Given the description of an element on the screen output the (x, y) to click on. 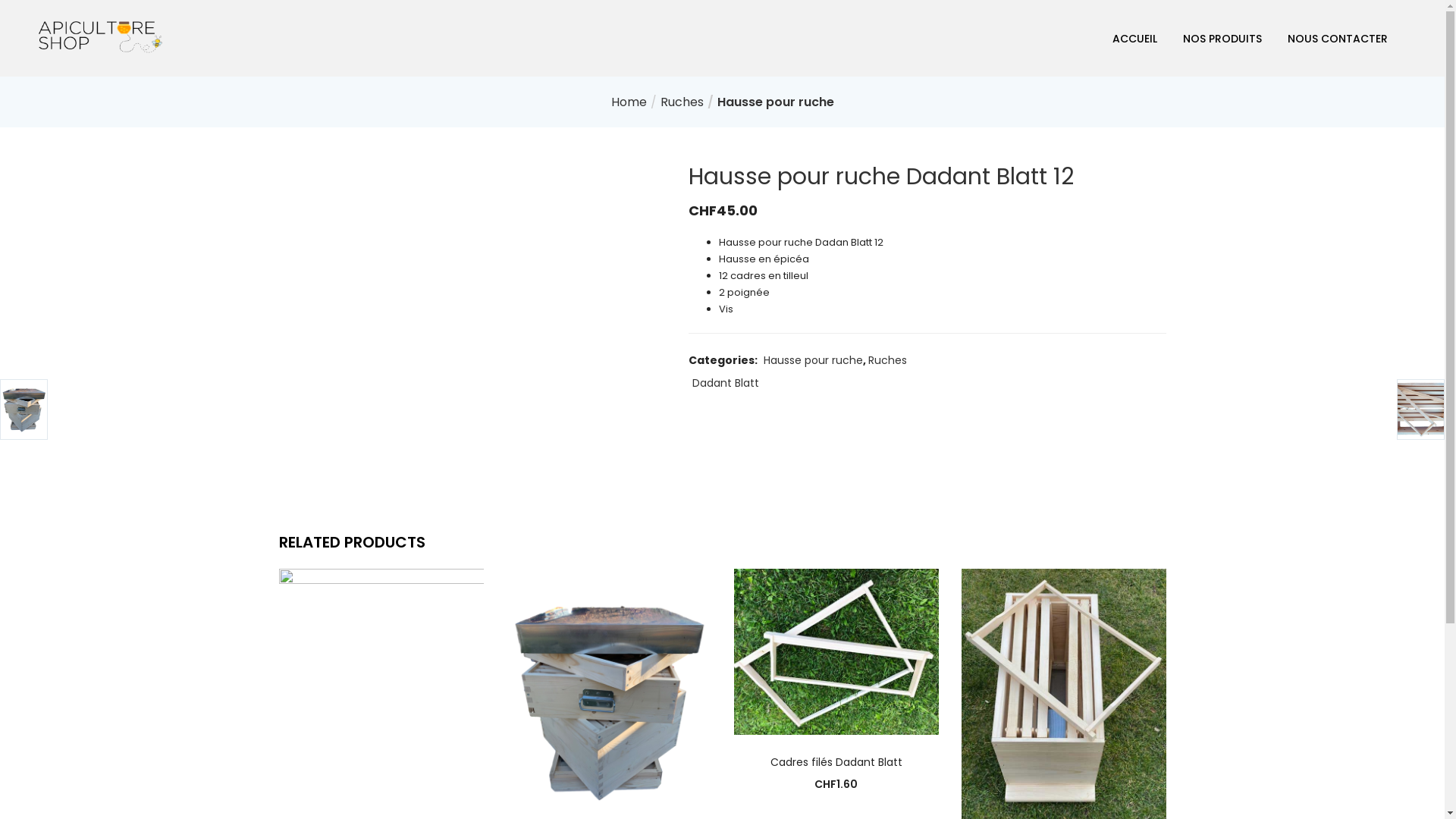
Home Element type: text (628, 101)
ACCUEIL Element type: text (1134, 38)
Ruches Element type: text (680, 101)
Dadant Blatt Element type: text (724, 382)
Hausse pour ruche Element type: text (812, 359)
Hausse pour ruche Dadant Blatt 10 Element type: hover (381, 698)
NOS PRODUITS Element type: text (1222, 38)
Ruches Element type: text (886, 359)
Hausse pour ruche Element type: text (775, 101)
NOUS CONTACTER Element type: text (1337, 38)
